Given the description of an element on the screen output the (x, y) to click on. 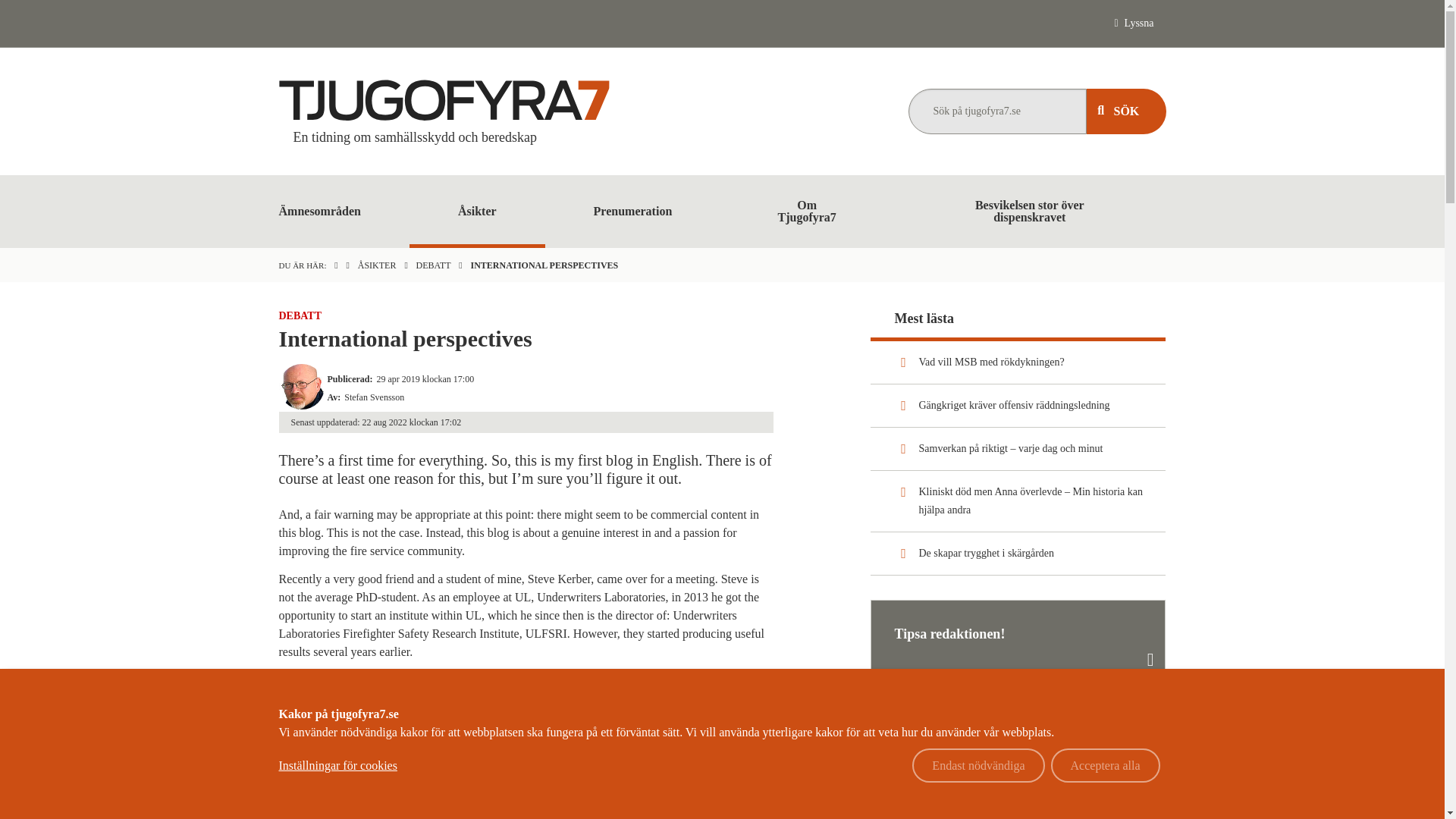
Lyssna (1134, 23)
Om Tjugofyra7 (806, 211)
Prenumeration (632, 211)
